Given the description of an element on the screen output the (x, y) to click on. 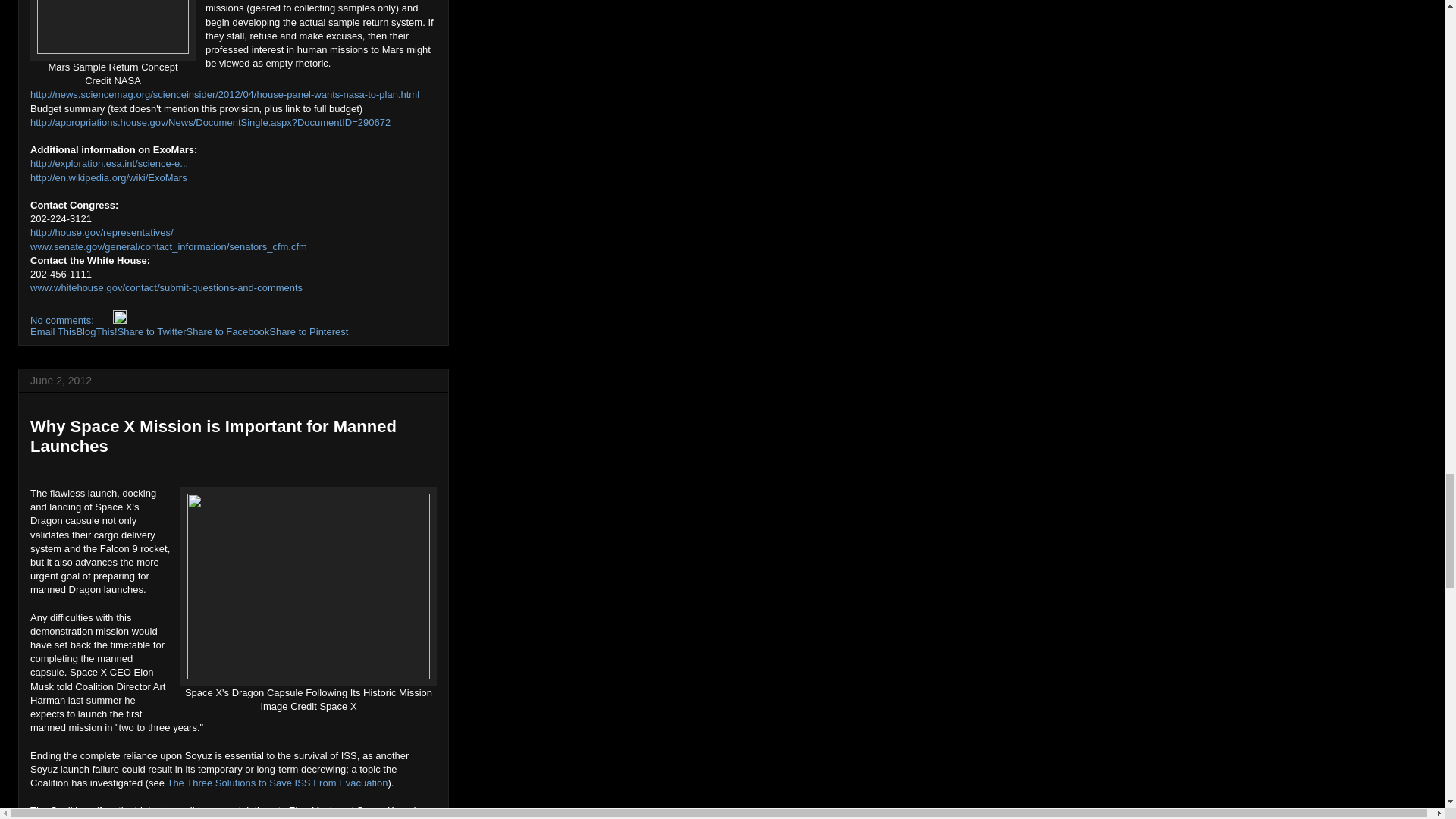
Email Post (104, 319)
Edit Post (119, 319)
Email This (52, 331)
